Given the description of an element on the screen output the (x, y) to click on. 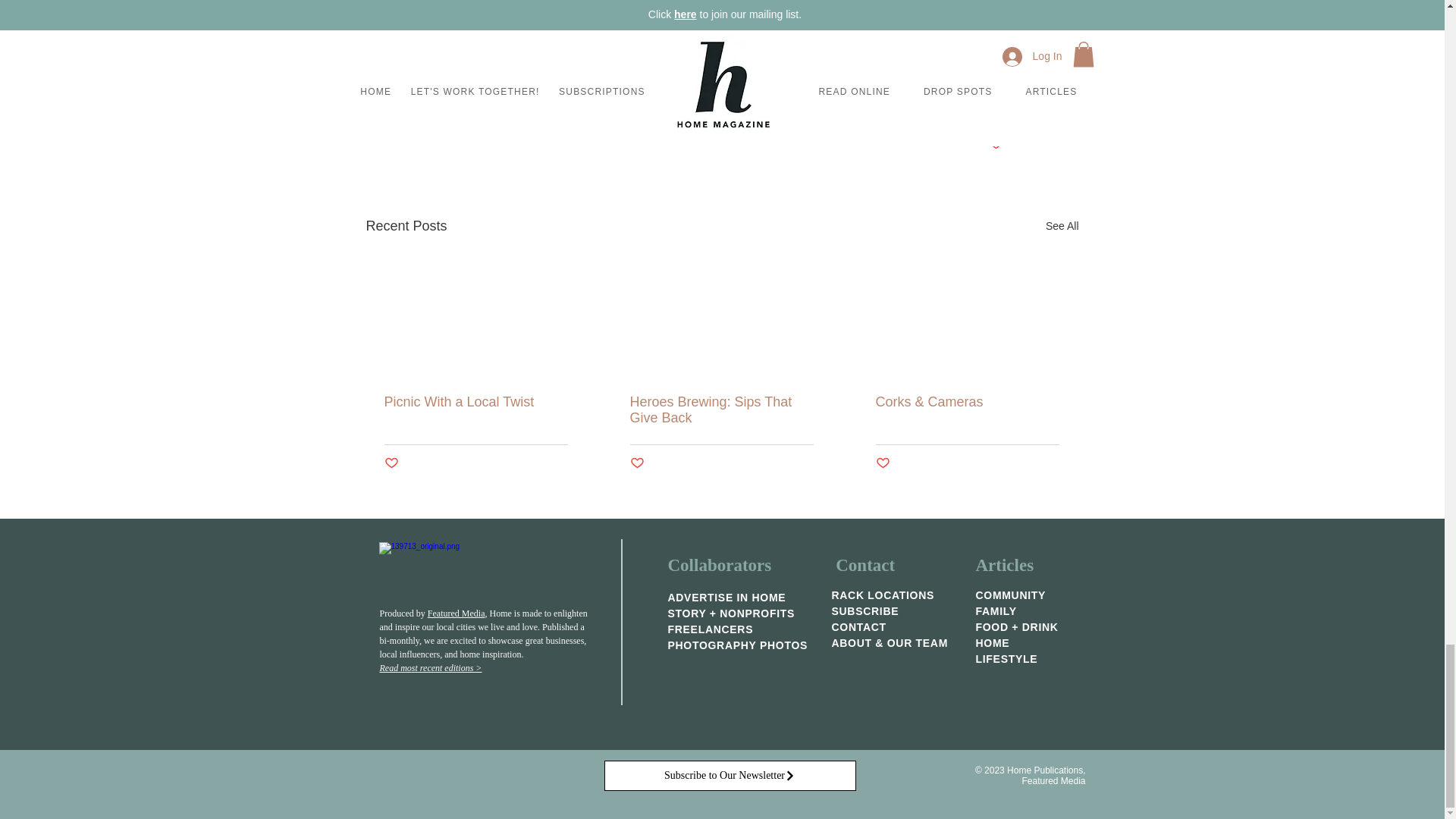
Heroes Brewing: Sips That Give Back (720, 409)
Community (976, 99)
Post not marked as liked (635, 463)
See All (1061, 226)
Picnic With a Local Twist (475, 401)
Post not marked as liked (390, 463)
Featured Media (456, 613)
Post not marked as liked (882, 463)
Post not marked as liked (995, 144)
